Given the description of an element on the screen output the (x, y) to click on. 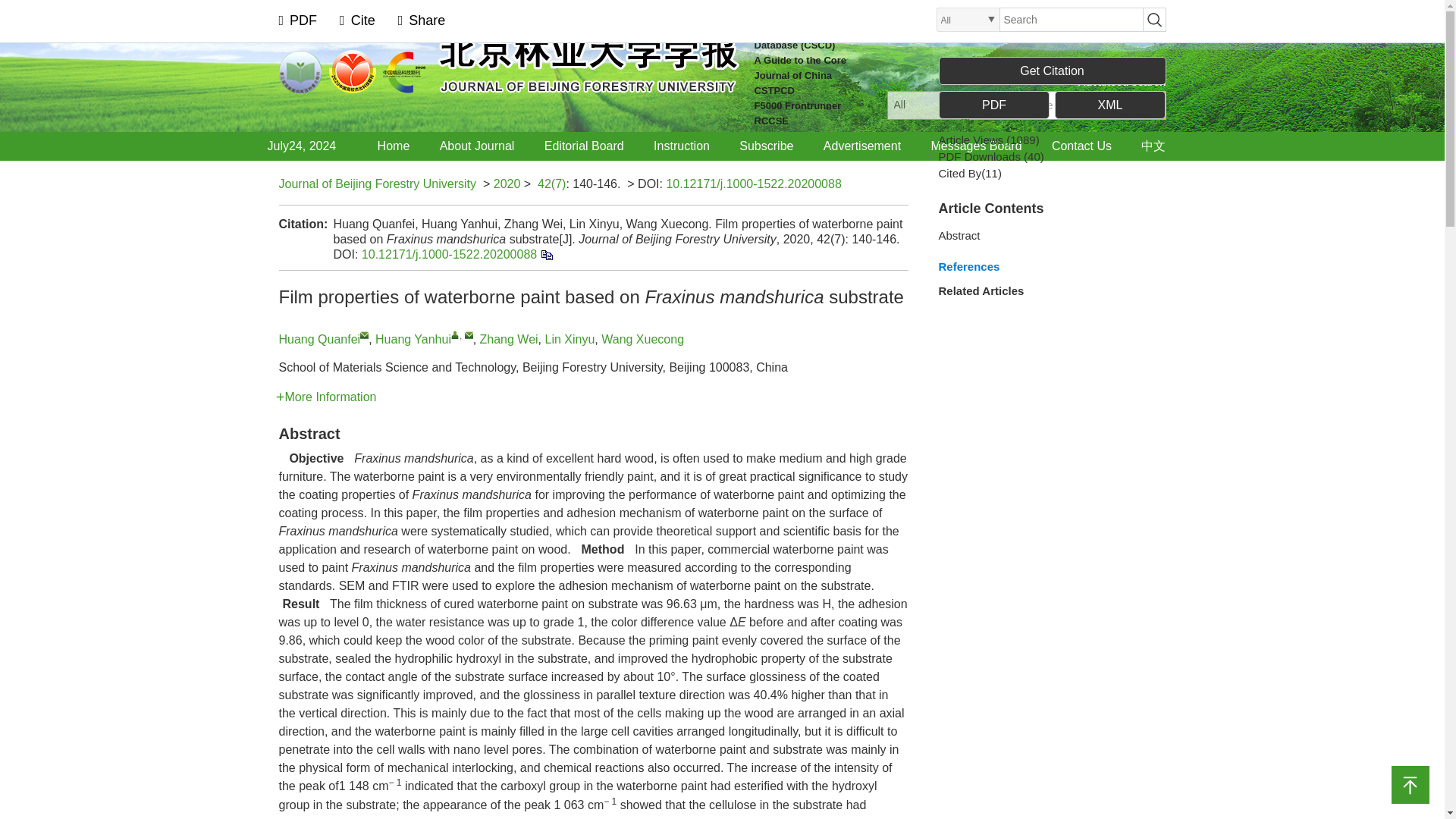
copy to clipboard (546, 254)
Home (394, 145)
Editorial Board (583, 145)
Advanced search (1122, 81)
Messages Board (975, 145)
PDF (298, 20)
Subscribe (766, 145)
Share (421, 20)
Instruction (681, 145)
Contact Us (1081, 145)
Advertisement (862, 145)
Cite (357, 20)
2020 (507, 183)
About Journal (476, 145)
Journal of Beijing Forestry University (378, 183)
